Given the description of an element on the screen output the (x, y) to click on. 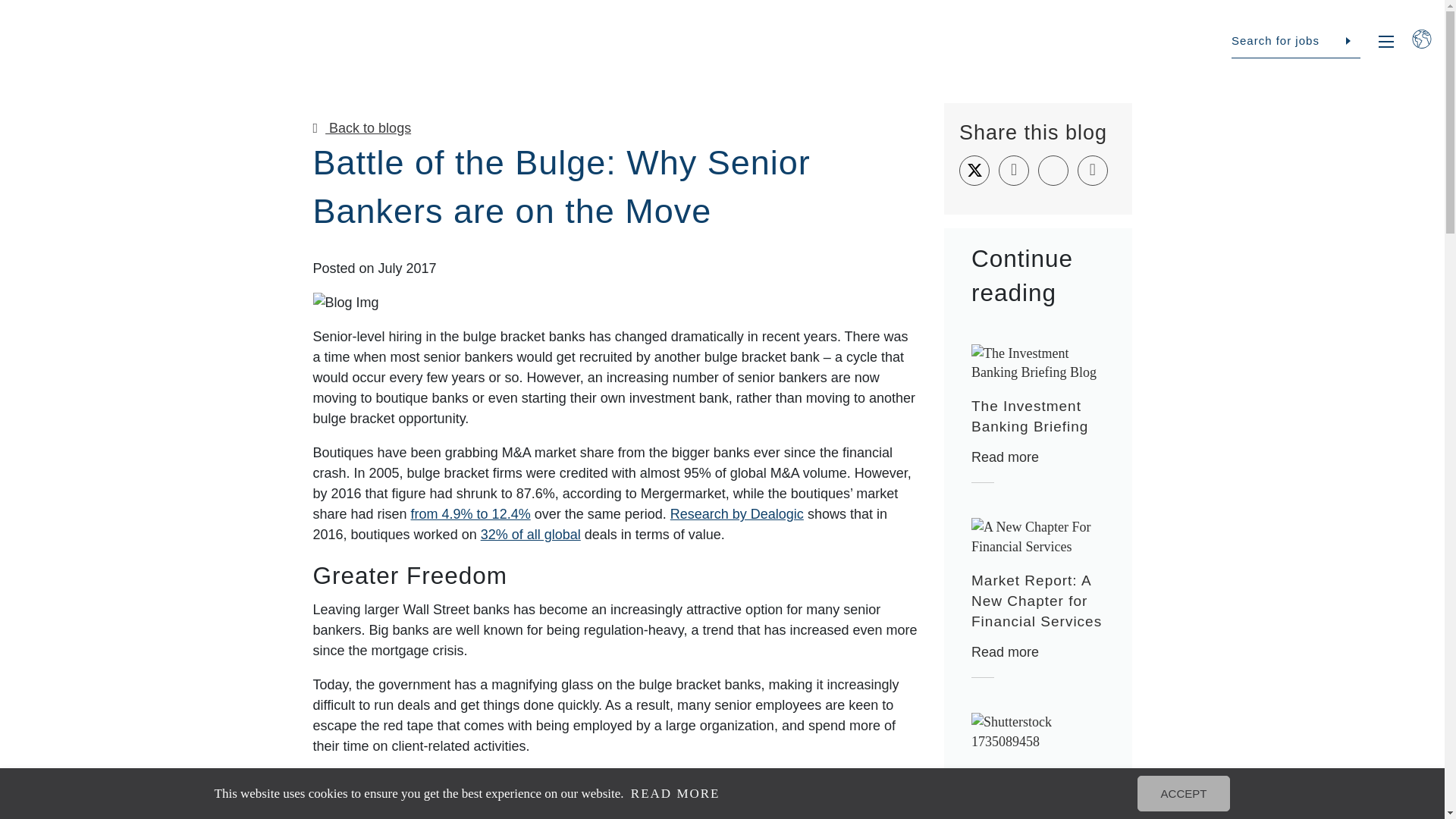
Instagram (1324, 696)
Email (1092, 170)
share on Facebook (1013, 170)
ACCEPT (1197, 793)
READ MORE (690, 793)
Selby Jennings CH (87, 47)
LinkedIn (1256, 696)
YouTube (1359, 696)
WeChat (1393, 696)
share on LinkedIn (1053, 170)
Tweet this (974, 170)
Twitter (1291, 696)
Search for jobs (1295, 41)
Go to the Homepage (79, 558)
Go to the Homepage (87, 47)
